Given the description of an element on the screen output the (x, y) to click on. 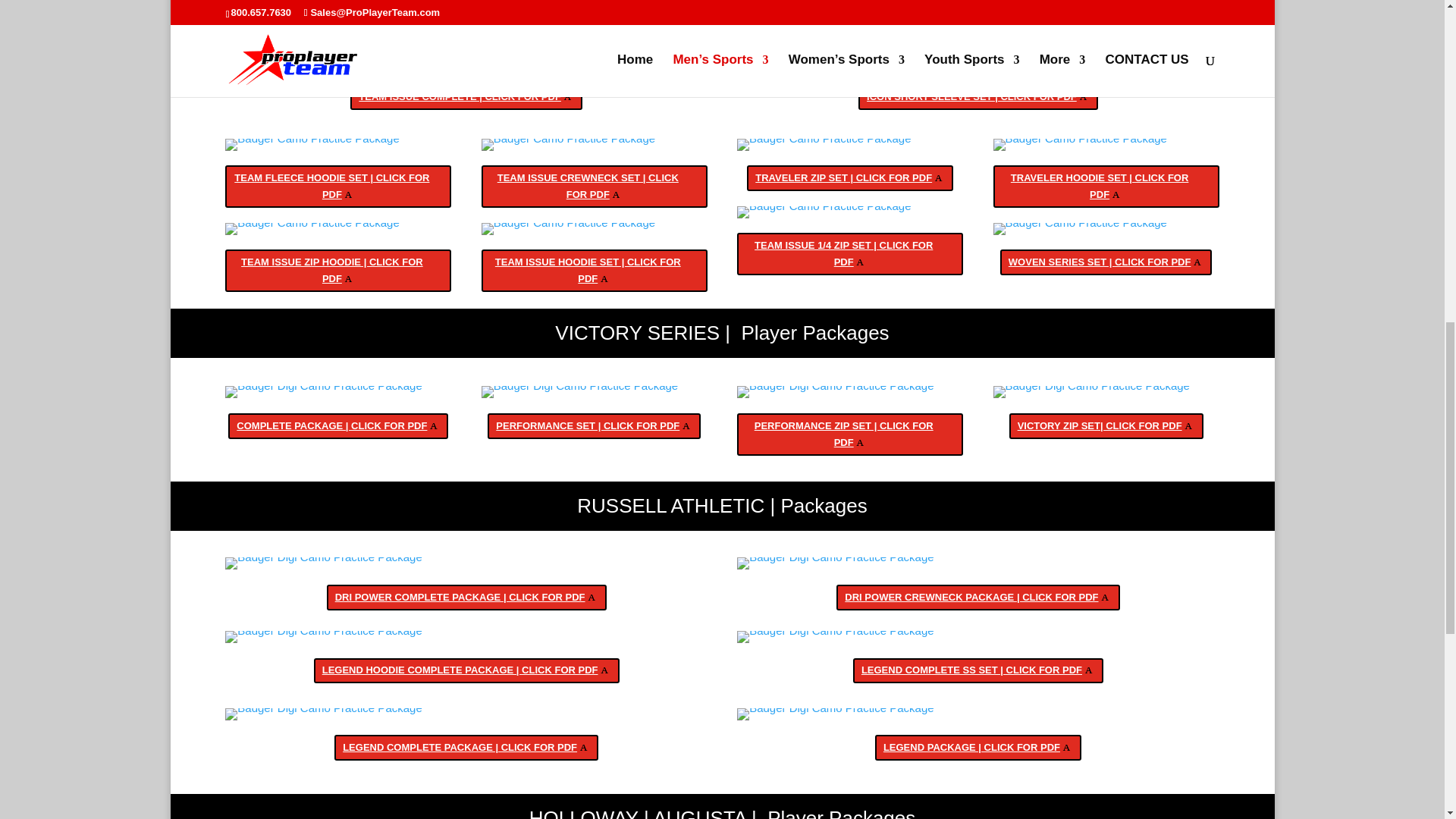
Badger Camo Practice Package (311, 144)
Badger Camo Practice Package (311, 228)
Badger Camo Practice Package (823, 62)
Badger Camo Practice Package (568, 144)
Badger Camo Practice Package (311, 62)
